Given the description of an element on the screen output the (x, y) to click on. 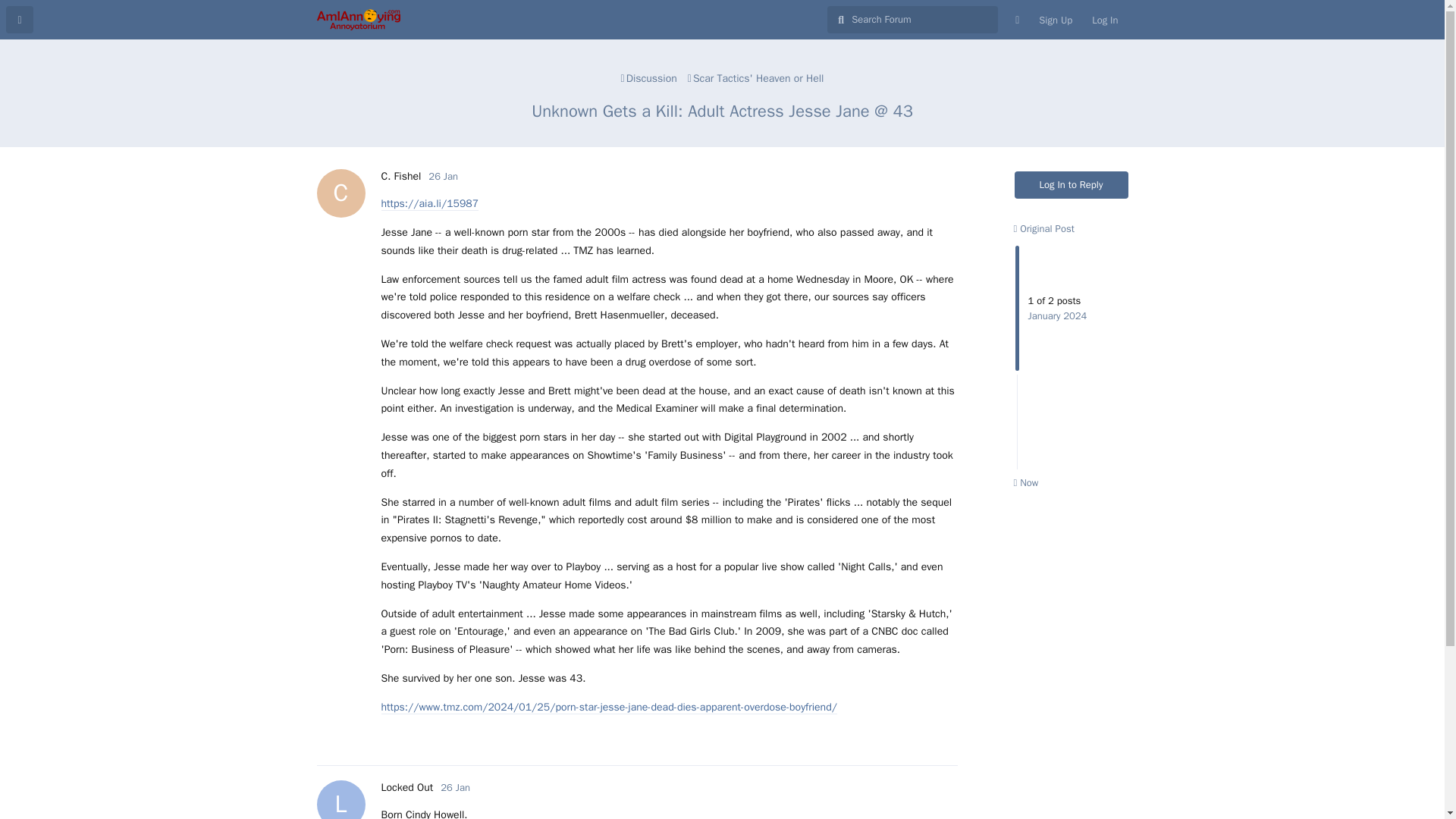
26 Jan (455, 787)
Now (1025, 481)
Original Post (406, 787)
26 Jan (1043, 228)
Friday, January 26, 2024 6:23 AM (443, 175)
Sign Up (455, 787)
Discussion (400, 175)
Scar Tactics' Heaven or Hell (1055, 19)
Log In to Reply (648, 78)
Friday, January 26, 2024 1:03 AM (755, 78)
Log In (1071, 185)
